Given the description of an element on the screen output the (x, y) to click on. 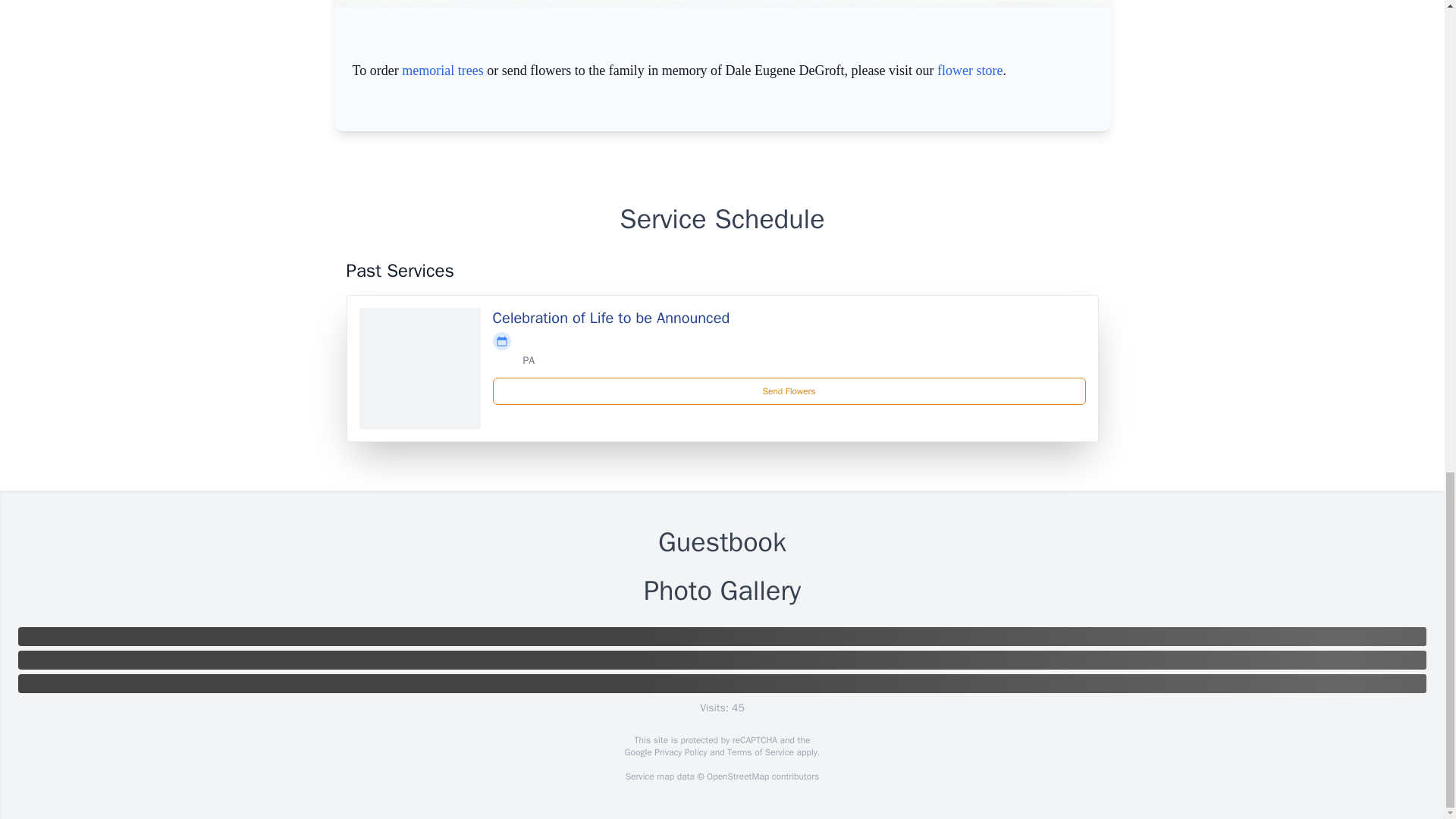
Privacy Policy (679, 752)
PA (528, 359)
Send Flowers (789, 390)
OpenStreetMap (737, 776)
flower store (970, 70)
Terms of Service (759, 752)
memorial trees (442, 70)
